Given the description of an element on the screen output the (x, y) to click on. 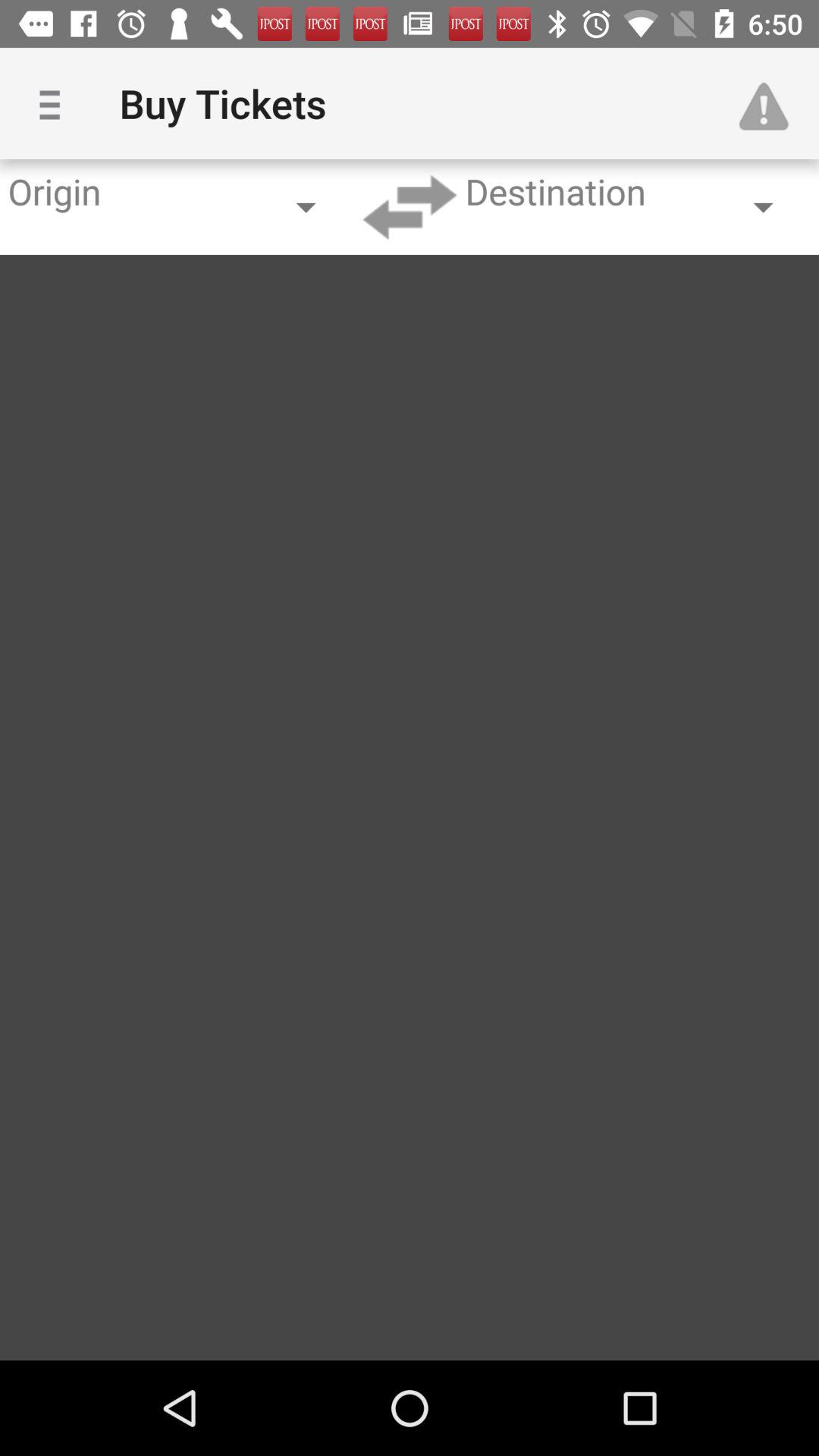
backpack fortpack (409, 206)
